Given the description of an element on the screen output the (x, y) to click on. 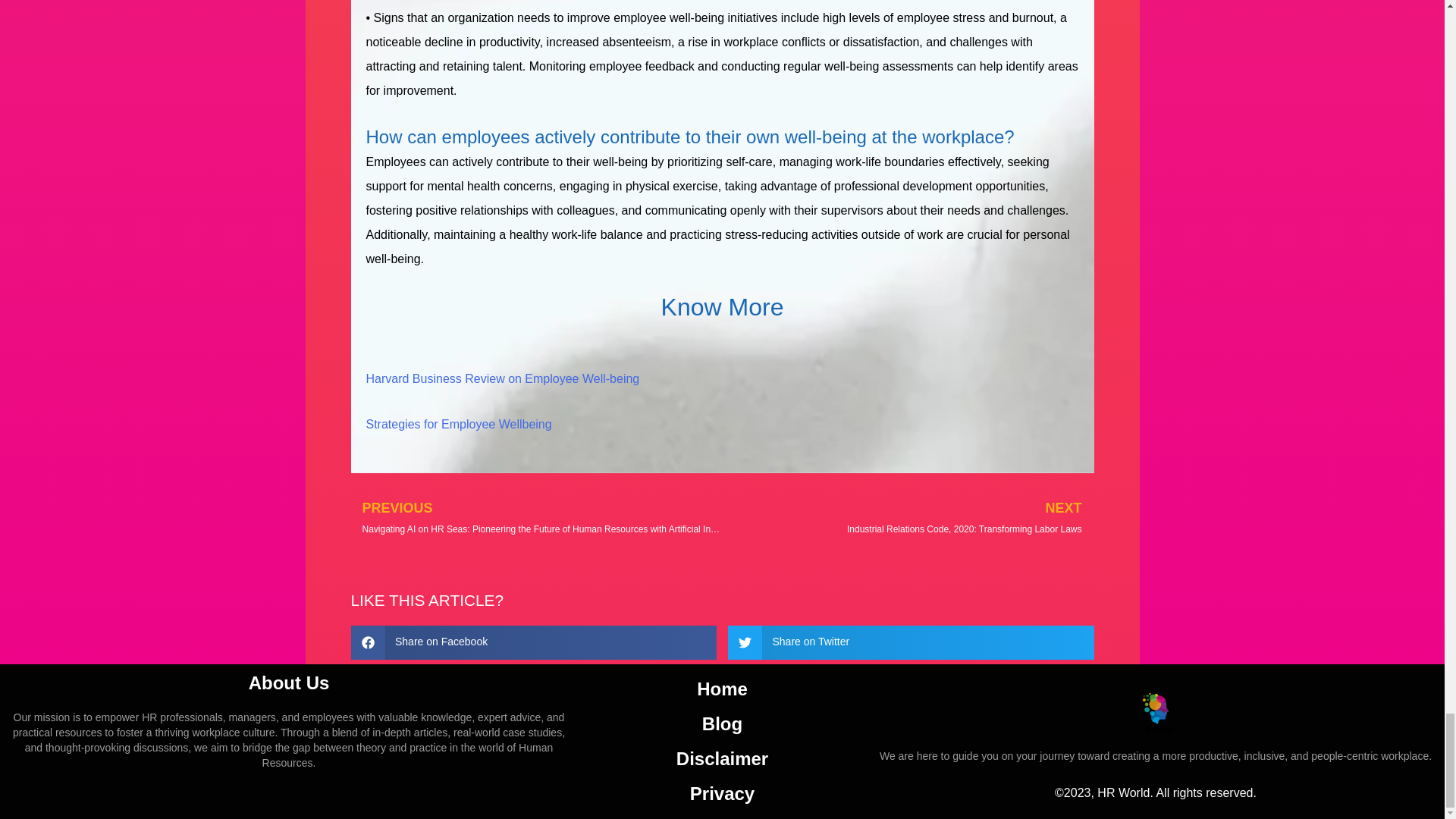
Harvard Business Review on Employee Well-being (502, 378)
Strategies for Employee Wellbeing (458, 423)
Blog (722, 723)
Home (722, 687)
Disclaimer (722, 758)
Privacy (722, 792)
